Given the description of an element on the screen output the (x, y) to click on. 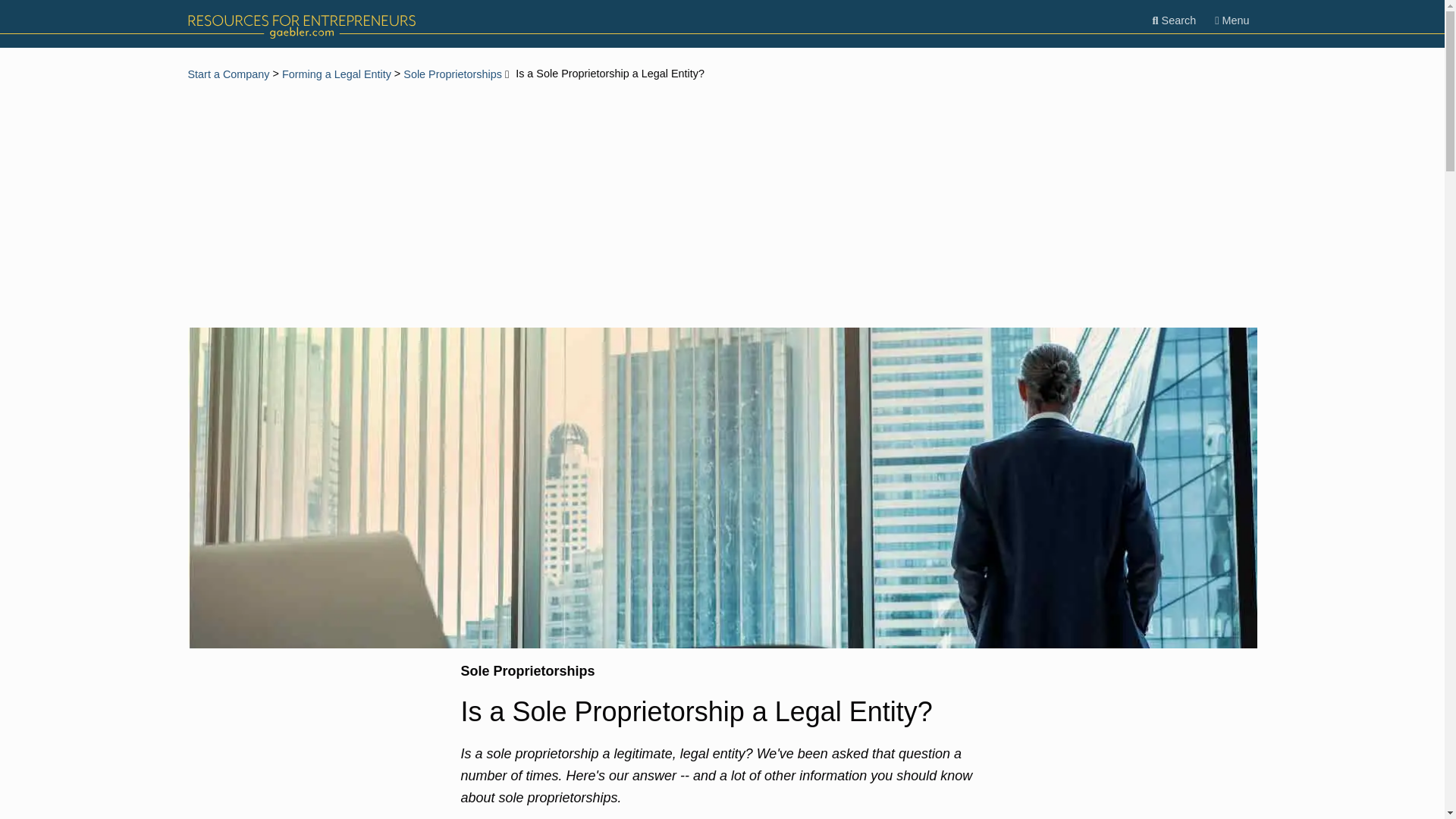
Menu (1231, 20)
Search (1174, 20)
